Given the description of an element on the screen output the (x, y) to click on. 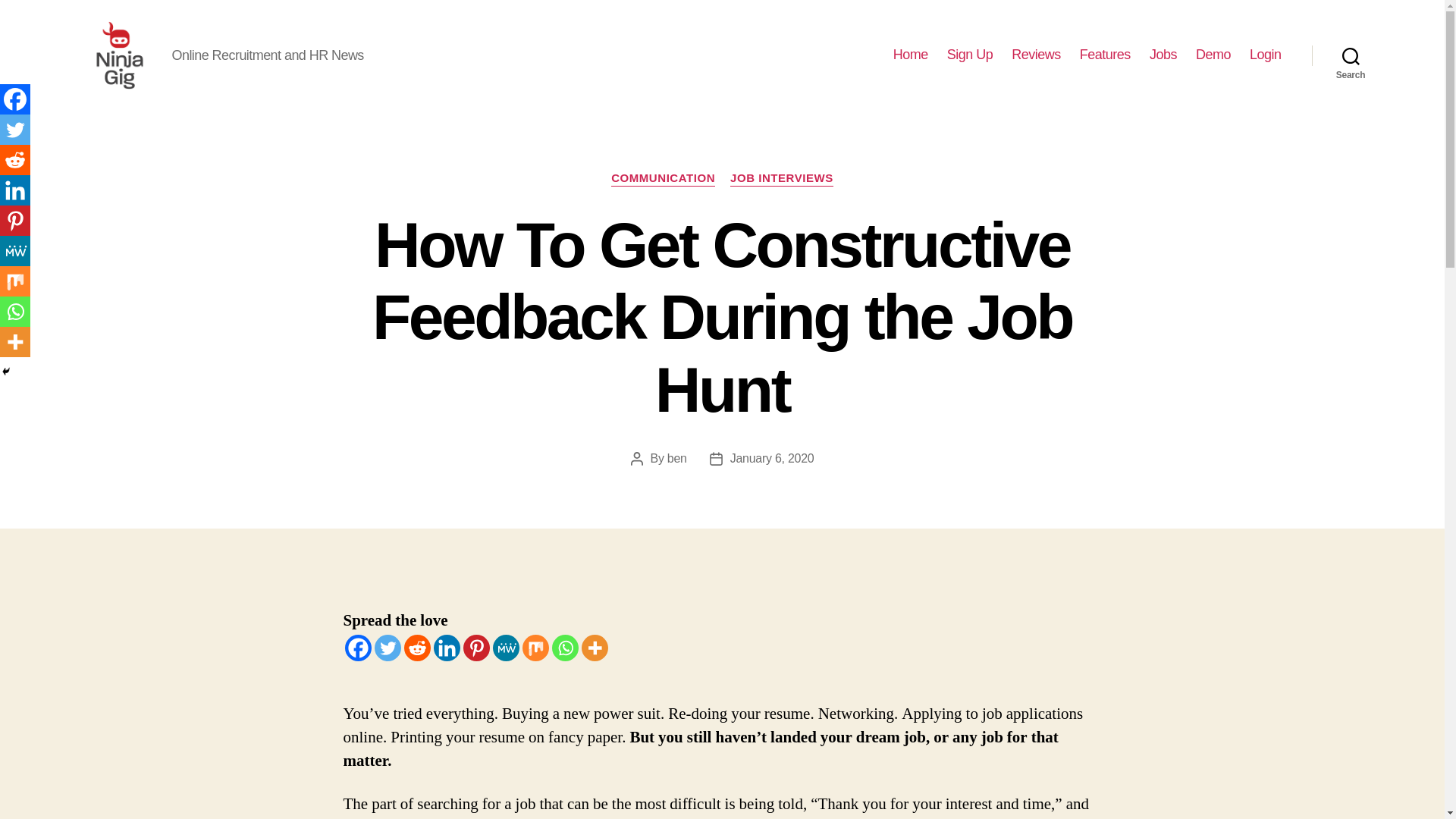
Login (1265, 54)
Search (1350, 55)
COMMUNICATION (662, 178)
Whatsapp (564, 647)
Whatsapp (15, 311)
Home (910, 54)
Facebook (15, 99)
MeWe (15, 250)
Linkedin (446, 647)
Twitter (387, 647)
More (593, 647)
Mix (534, 647)
Sign Up (969, 54)
Demo (1212, 54)
Features (1105, 54)
